Given the description of an element on the screen output the (x, y) to click on. 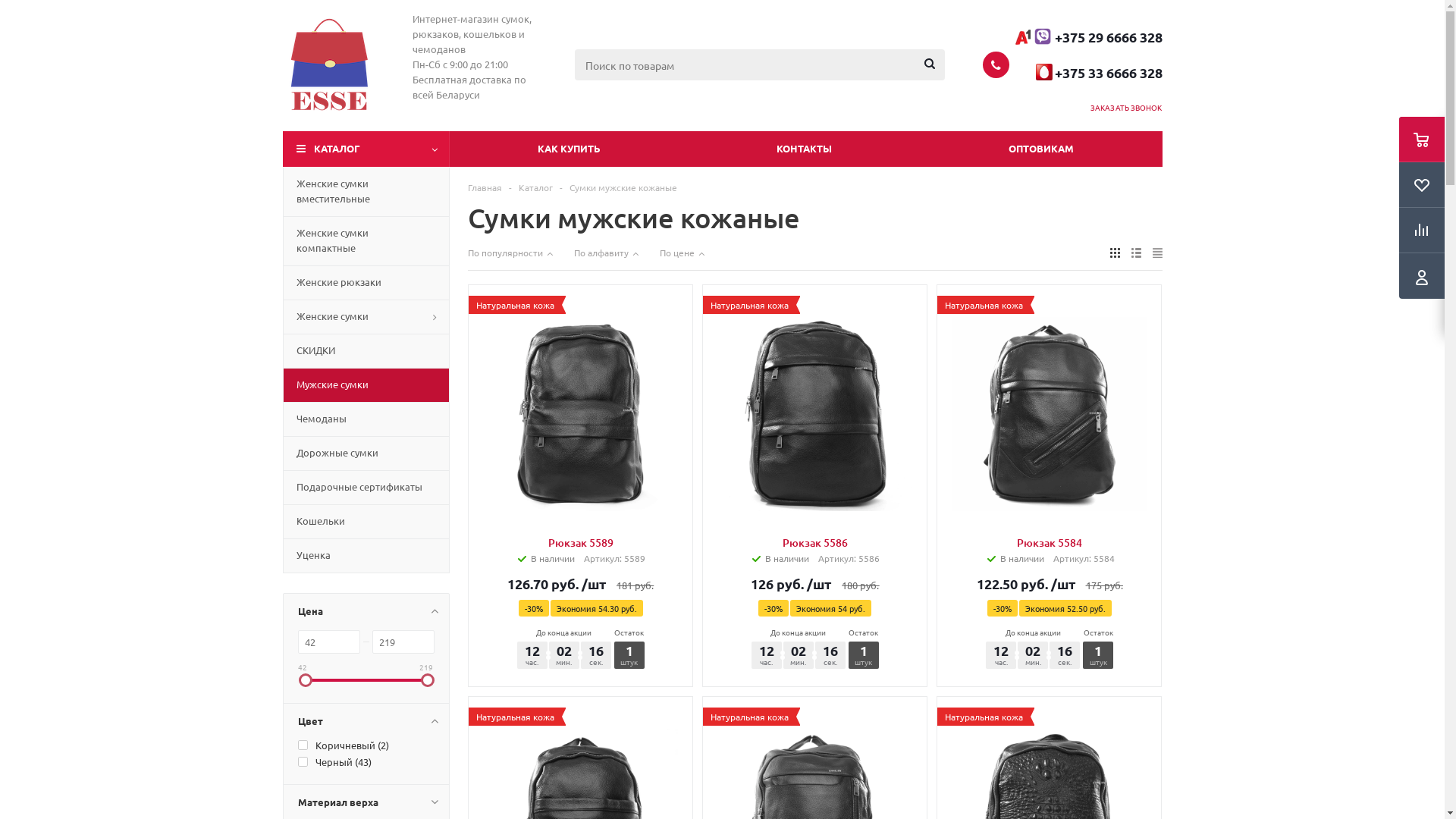
+375 33 6666 328 Element type: text (1107, 71)
viber-logo-compstart.png Element type: hover (1042, 35)
Esse.by Element type: hover (328, 64)
EcJhZMaWkAAnaJc.jpg Element type: hover (1021, 35)
Y Element type: text (4, 4)
+375 29 6666 328 Element type: text (1107, 36)
  Element type: text (1053, 72)
